Given the description of an element on the screen output the (x, y) to click on. 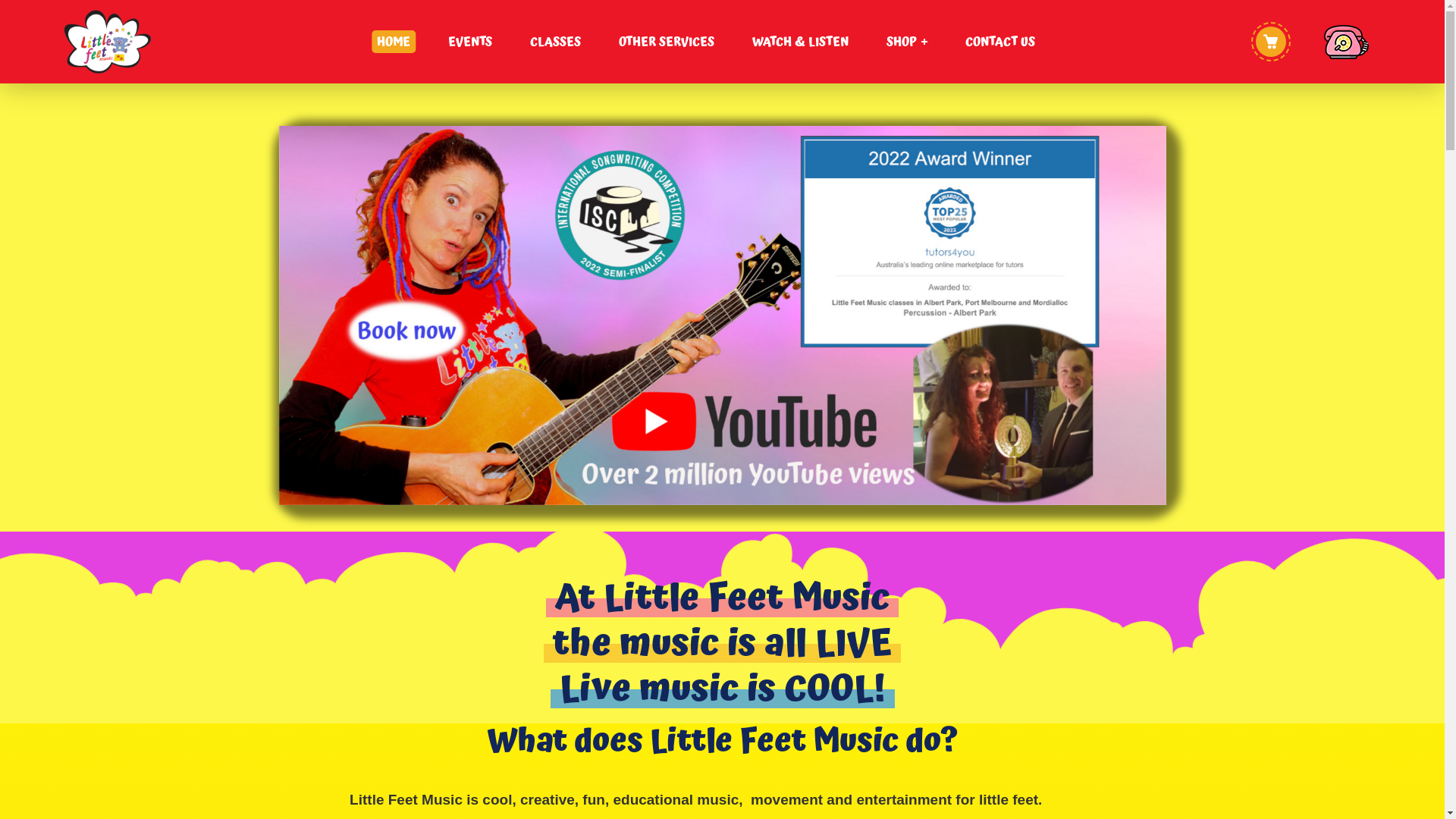
CLASSES Element type: text (555, 41)
CONTACT US Element type: text (1000, 41)
SHOP Element type: text (906, 41)
WATCH & LISTEN Element type: text (800, 41)
Click to open Shopping Cart Element type: hover (1270, 41)
EVENTS Element type: text (470, 41)
OTHER SERVICES Element type: text (666, 41)
HOME Element type: text (393, 41)
